Given the description of an element on the screen output the (x, y) to click on. 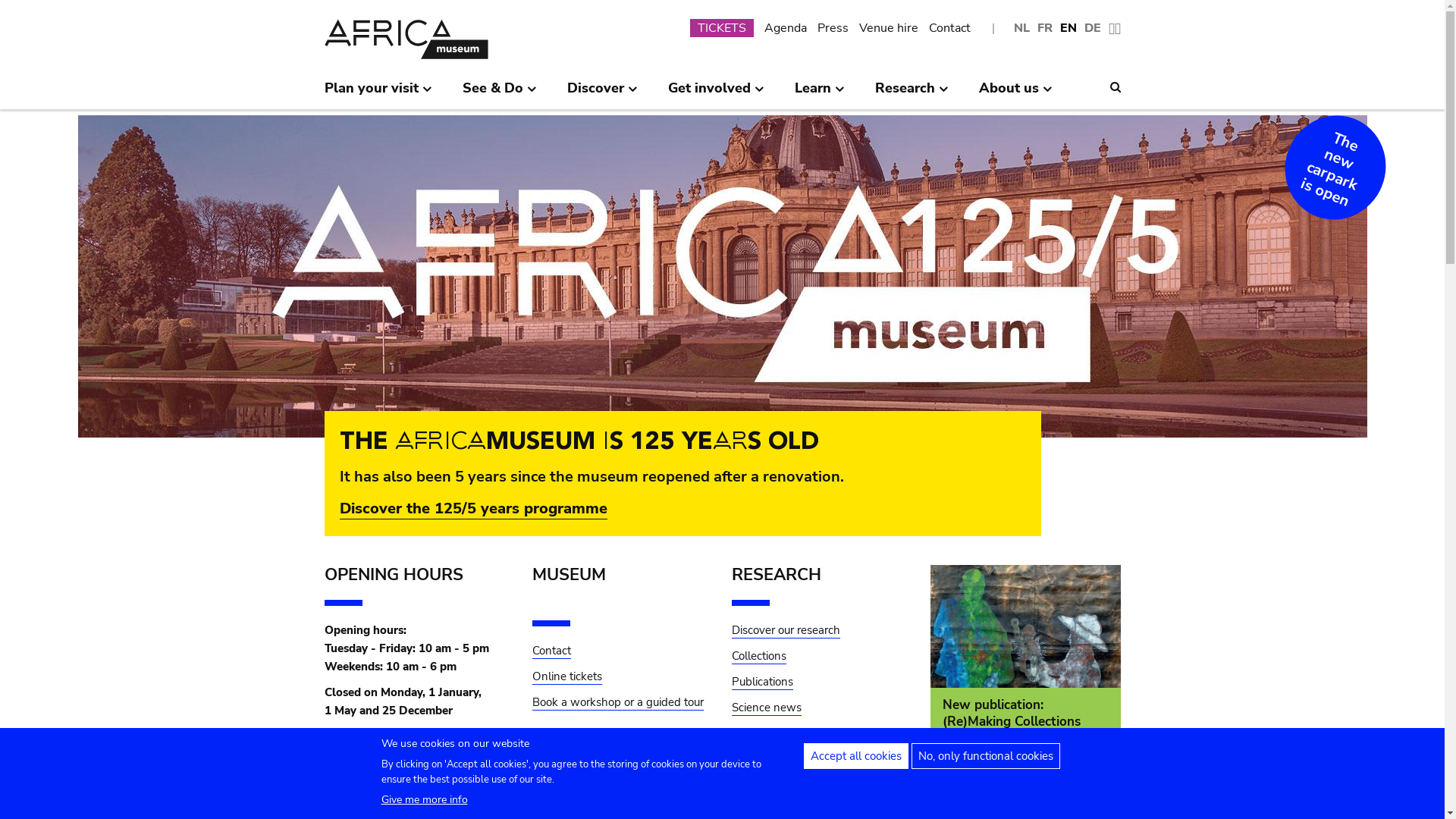
FR Element type: text (1044, 28)
Discover our research Element type: text (785, 630)
 Youtube Element type: text (473, 749)
Publications Element type: text (761, 682)
 Instagram Element type: text (430, 749)
Collections Element type: text (758, 656)
TICKETS Element type: text (721, 27)
Science news Element type: text (765, 707)
No, only functional cookies Element type: text (985, 755)
Discover the 125/5 years programme Element type: text (473, 508)
Contact Element type: text (948, 27)
Book a workshop or a guided tour Element type: text (617, 711)
Online tickets Element type: text (567, 676)
The new carpark is open Element type: text (1323, 156)
 Twitter Element type: text (343, 749)
Agenda Element type: text (785, 27)
DE Element type: text (1092, 28)
Skip to main content Element type: text (0, 3)
Give me more info Element type: text (423, 799)
Contact Element type: text (551, 650)
Venue hire Element type: text (887, 27)
EN Element type: text (1068, 28)
NL Element type: text (1021, 28)
Accept all cookies Element type: text (855, 755)
Press Element type: text (832, 27)
Search Element type: text (1115, 86)
 Facebook Element type: text (386, 749)
